Given the description of an element on the screen output the (x, y) to click on. 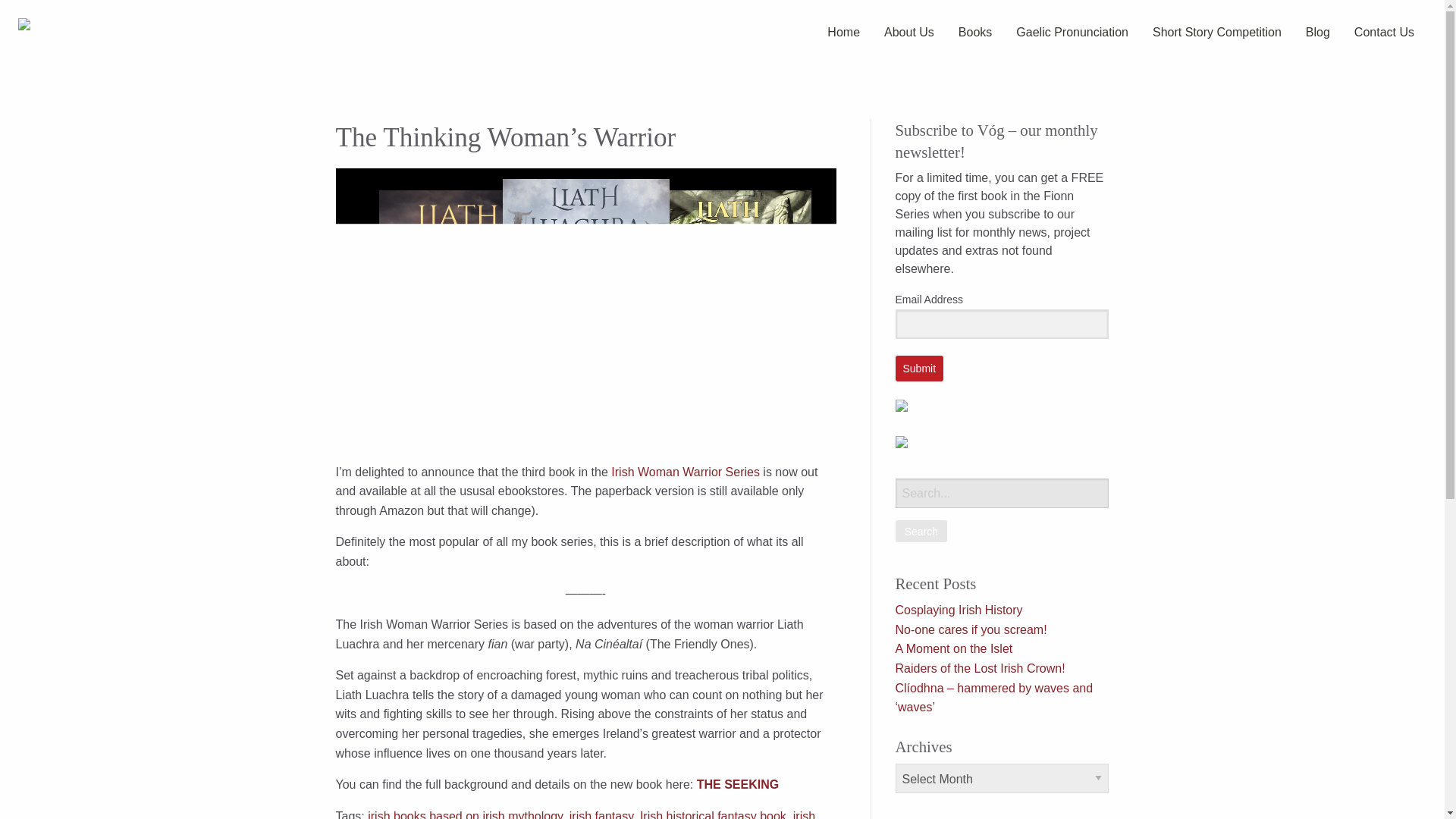
Search (921, 531)
Search for: (1001, 492)
Search (921, 531)
